Given the description of an element on the screen output the (x, y) to click on. 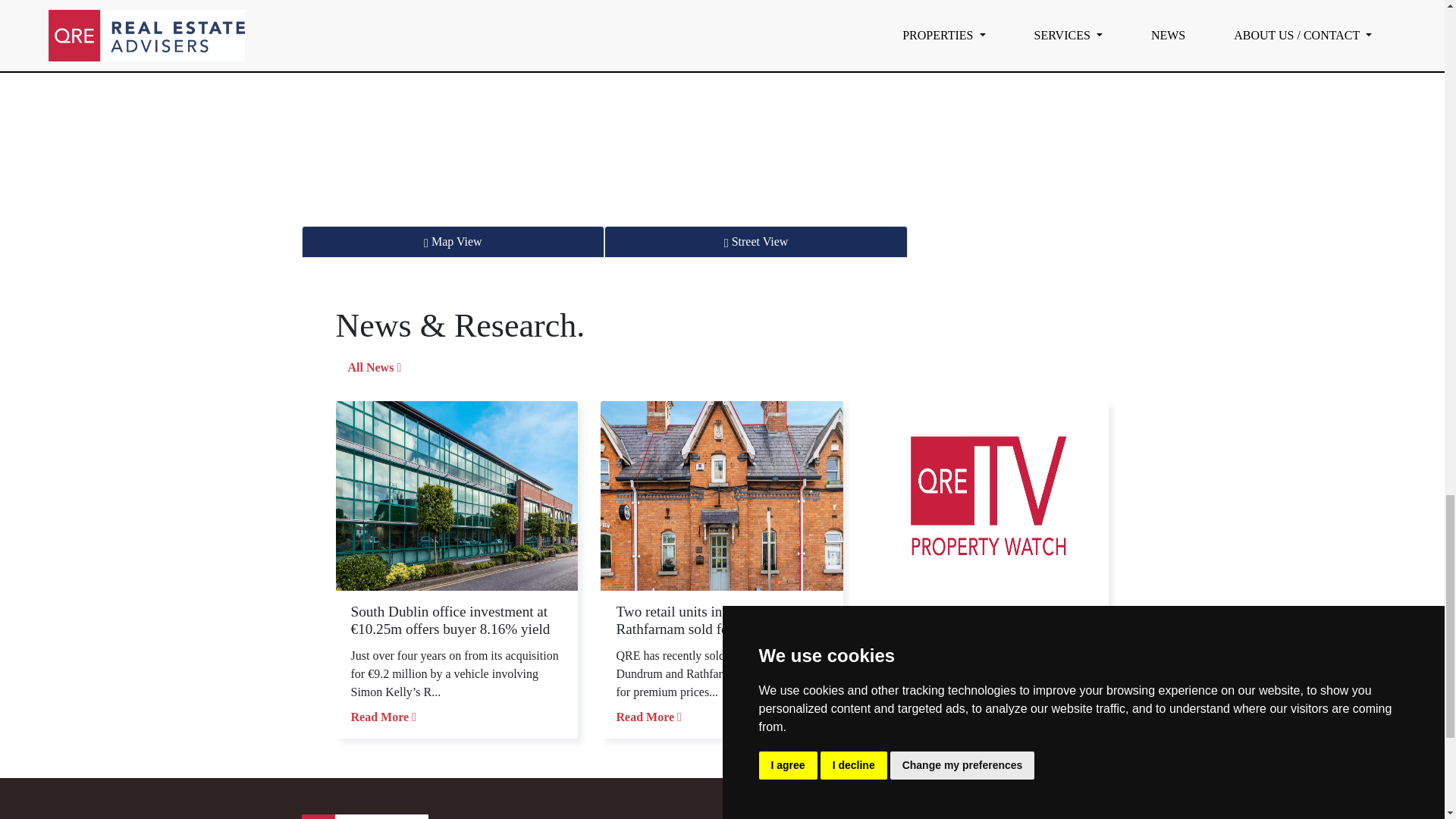
Map View (453, 241)
Read More (382, 716)
Read More (913, 716)
Street View (755, 241)
Read More (648, 716)
All News (373, 367)
